Given the description of an element on the screen output the (x, y) to click on. 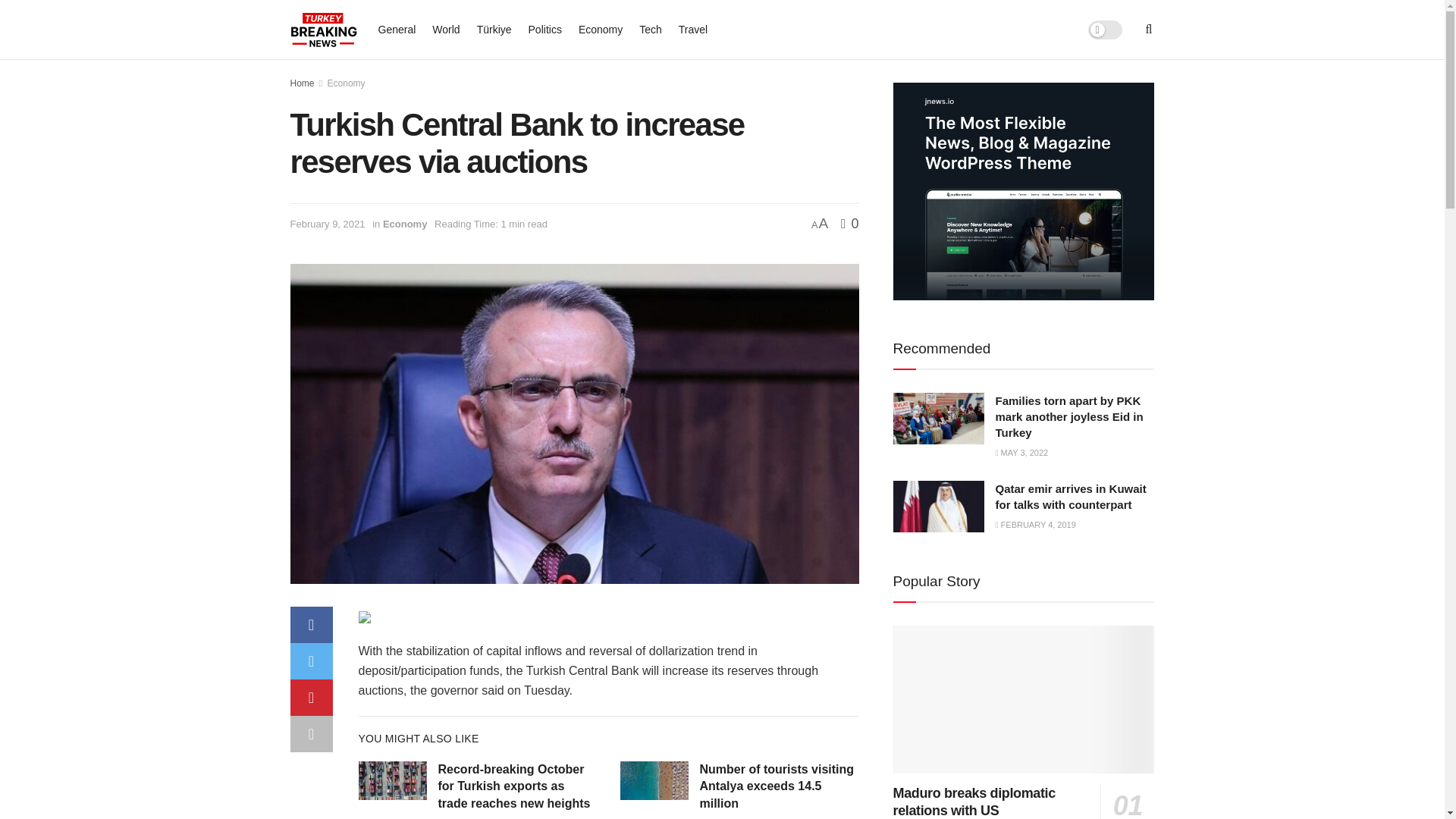
Home (301, 82)
NOVEMBER 6, 2023 (479, 818)
World (446, 29)
Politics (545, 29)
Economy (405, 224)
Economy (346, 82)
February 9, 2021 (327, 224)
Economy (600, 29)
General (395, 29)
